Given the description of an element on the screen output the (x, y) to click on. 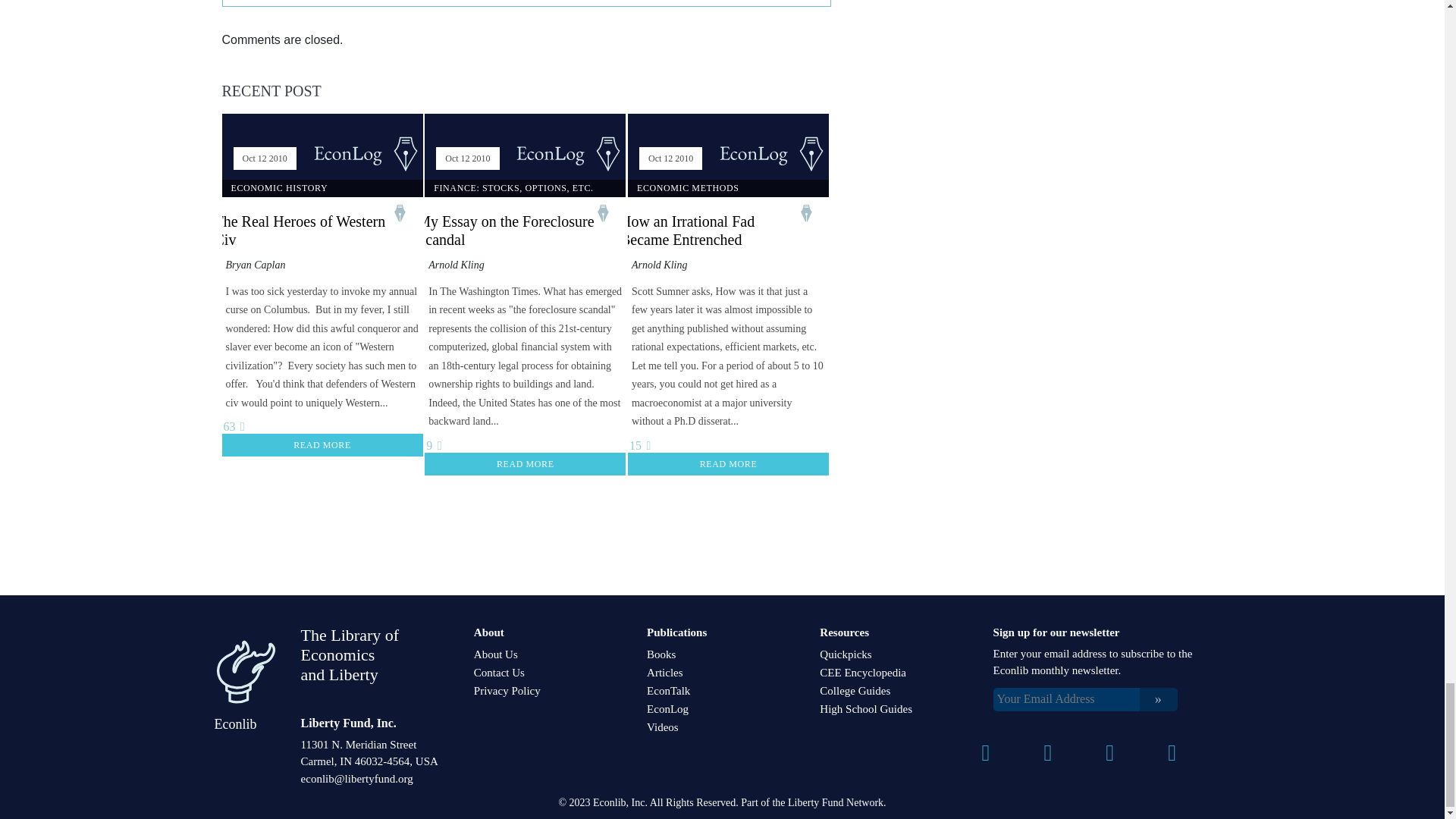
Arnold Kling (456, 265)
Bryan Caplan (255, 265)
Arnold Kling (659, 265)
